Given the description of an element on the screen output the (x, y) to click on. 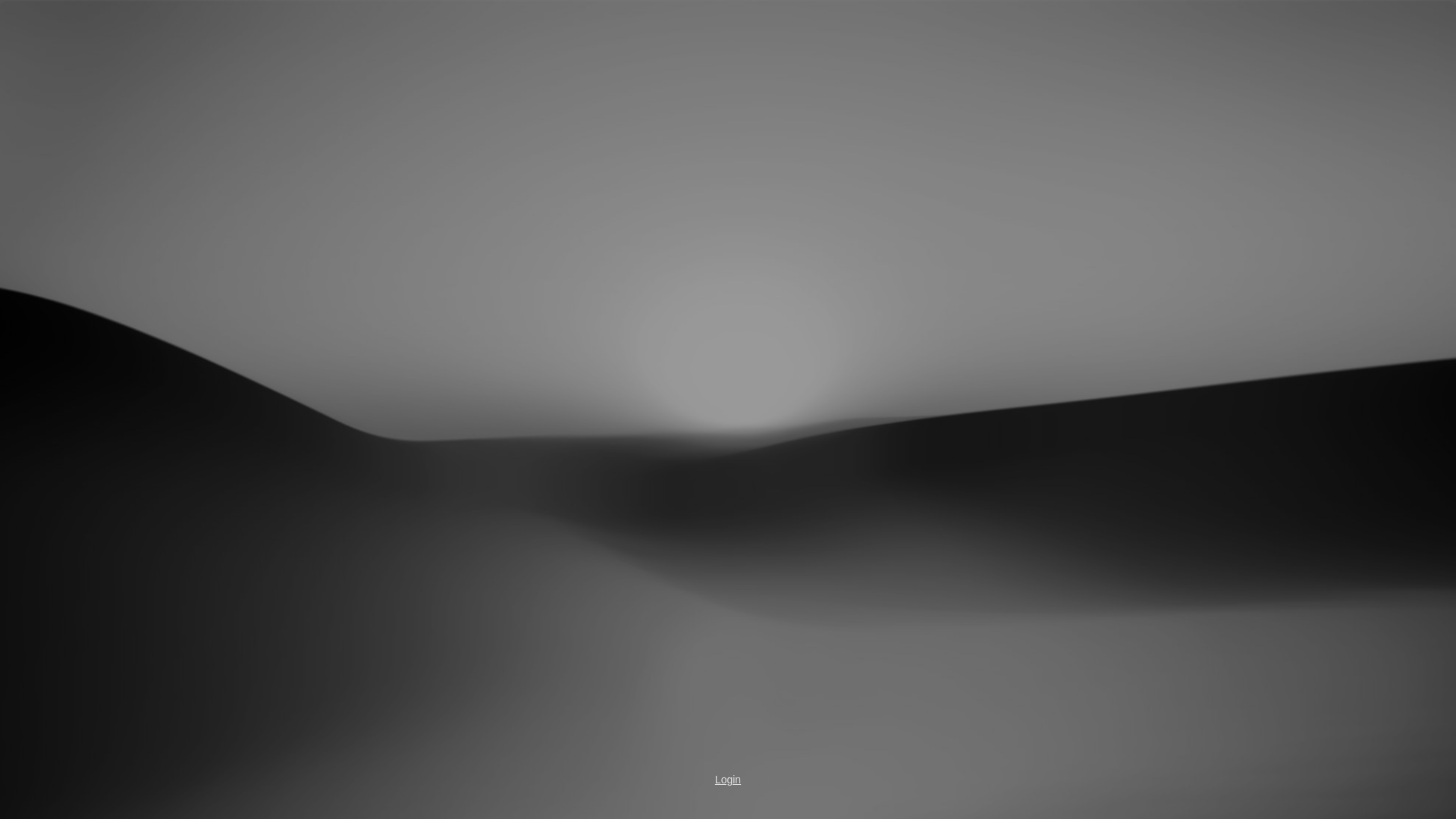
Login Element type: text (727, 779)
